Given the description of an element on the screen output the (x, y) to click on. 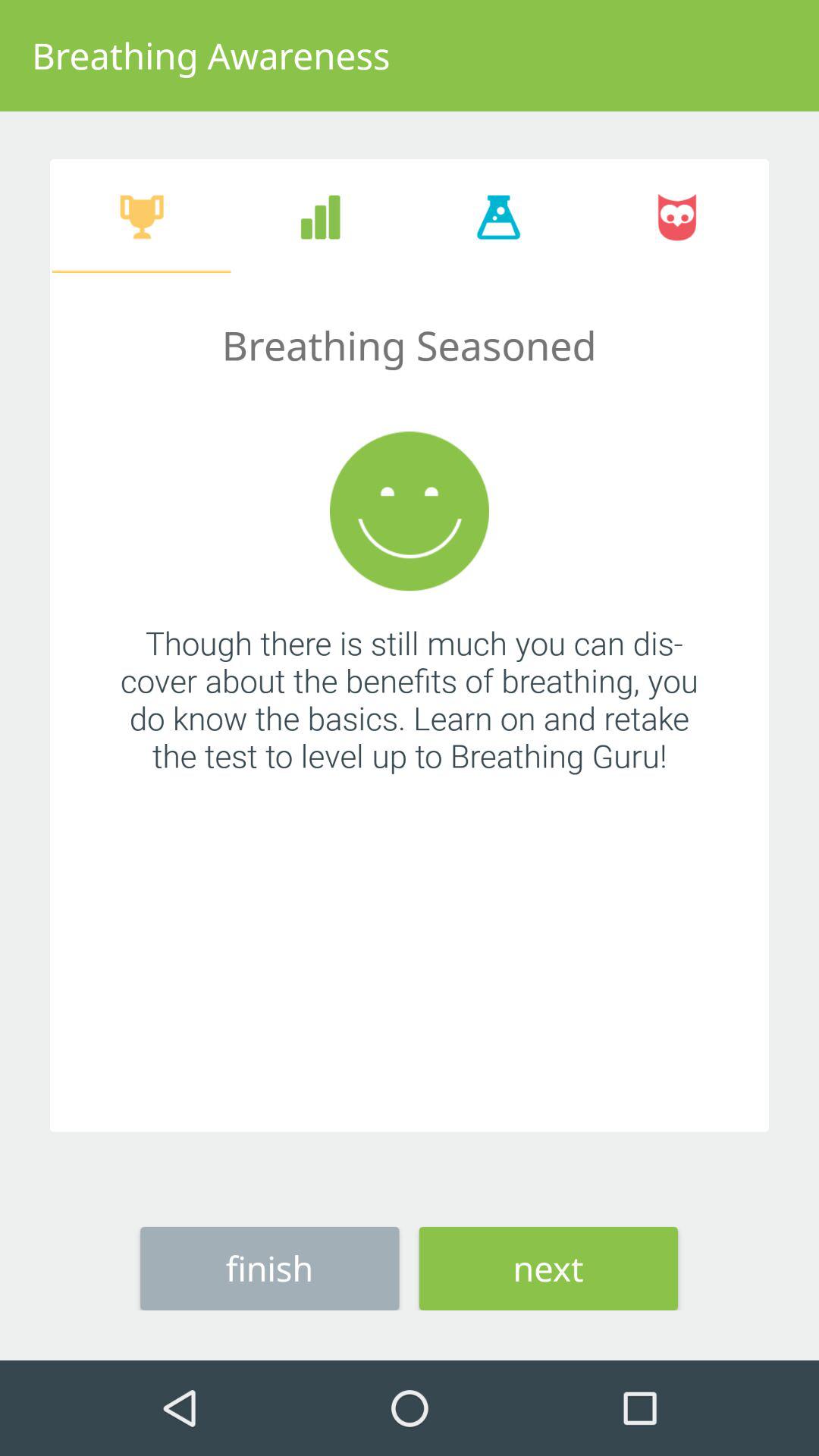
click the item to the right of the finish item (548, 1268)
